Given the description of an element on the screen output the (x, y) to click on. 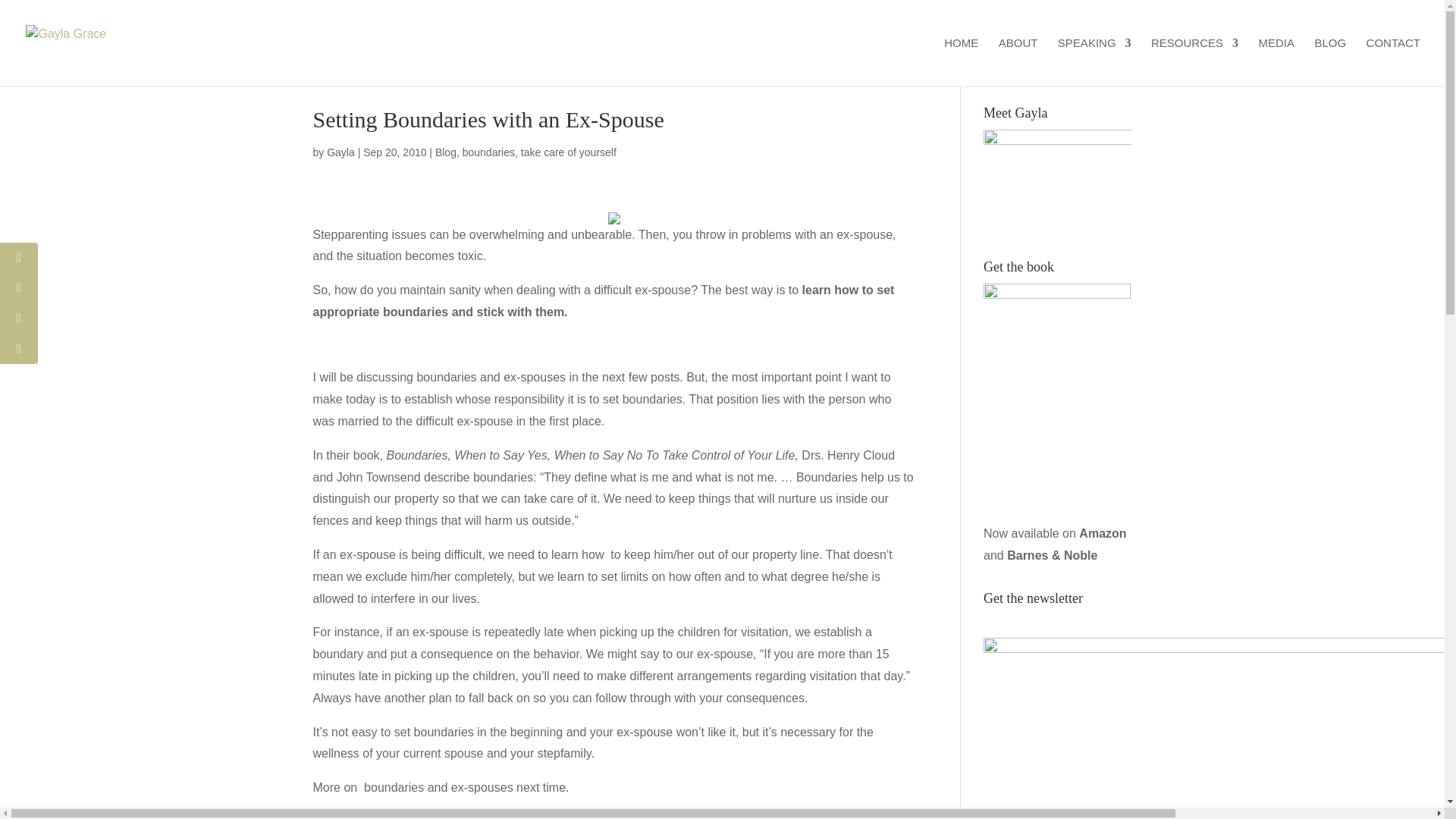
SPEAKING (1094, 61)
CONTACT (1394, 61)
Gayla (340, 152)
take care of yourself (568, 152)
boundaries (489, 152)
Amazon (1101, 533)
RESOURCES (1195, 61)
Blog (446, 152)
Posts by Gayla (340, 152)
